Given the description of an element on the screen output the (x, y) to click on. 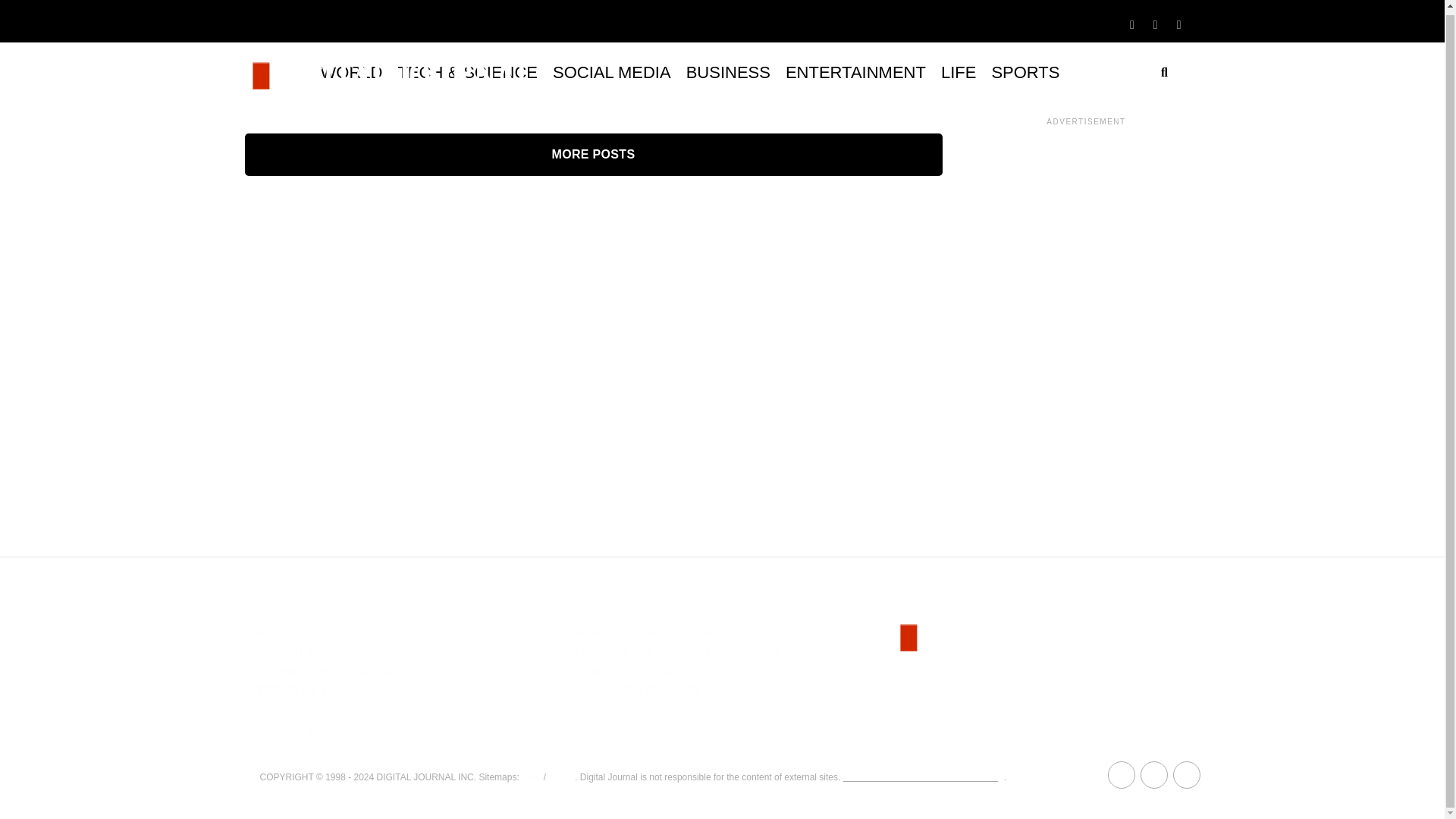
BUSINESS (727, 72)
PRIVACY POLICY (307, 710)
ENTERTAINMENT (855, 72)
INSIGHT FORUM (304, 651)
News (560, 776)
NEWS PARTNER: AFP (638, 671)
MORE POSTS (593, 154)
FEATURED: ACCESSWIRE (651, 631)
SPONSORED CONTENT (326, 671)
FEATURED: PRODIGY PRESS WIRE (677, 651)
XML (530, 776)
WORLD (351, 72)
Read more about our external linking (923, 776)
TERMS OF USE (301, 690)
ALL PRESS RELEASES (641, 690)
